Given the description of an element on the screen output the (x, y) to click on. 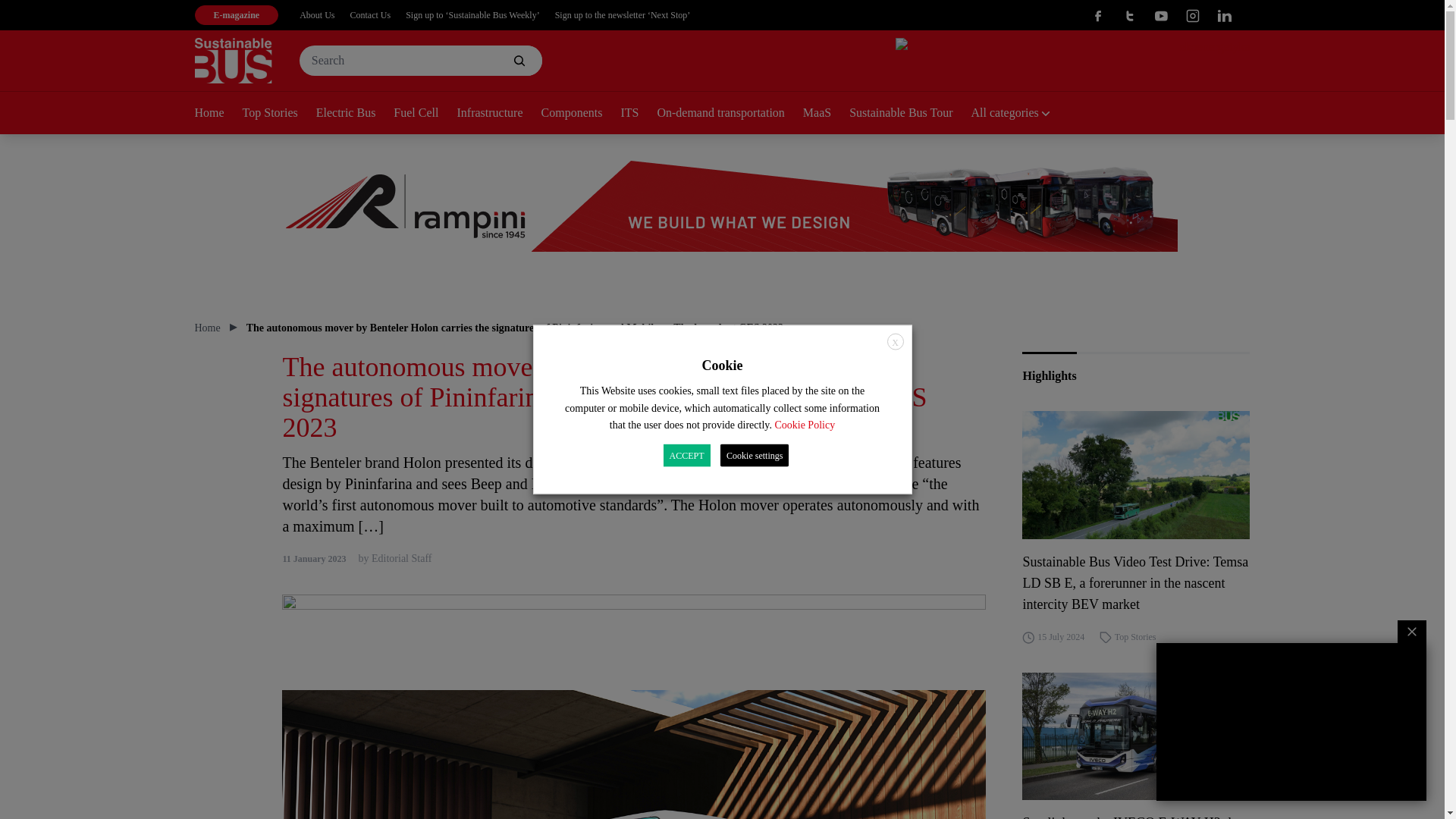
Components (581, 113)
Home (217, 113)
E-magazine (235, 14)
On-demand transportation (729, 113)
ITS (638, 113)
About Us (316, 14)
Top Stories (279, 113)
Contact Us (370, 14)
Fuel Cell (425, 113)
Electric Bus (354, 113)
YouTube video player (1291, 721)
Sustainable Bus (231, 60)
Cerca: (420, 60)
